Given the description of an element on the screen output the (x, y) to click on. 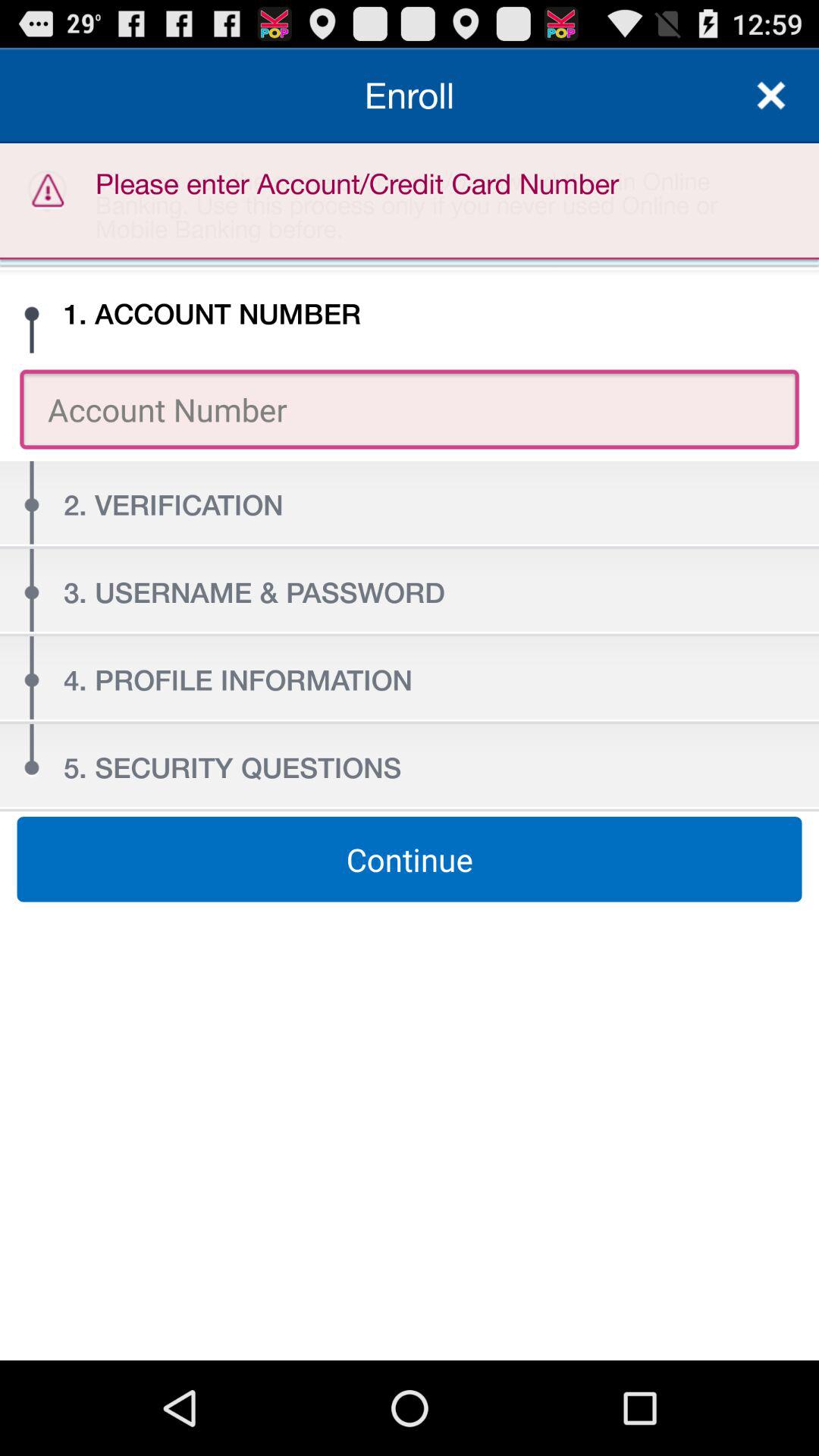
tap icon below 1. account number icon (409, 409)
